Given the description of an element on the screen output the (x, y) to click on. 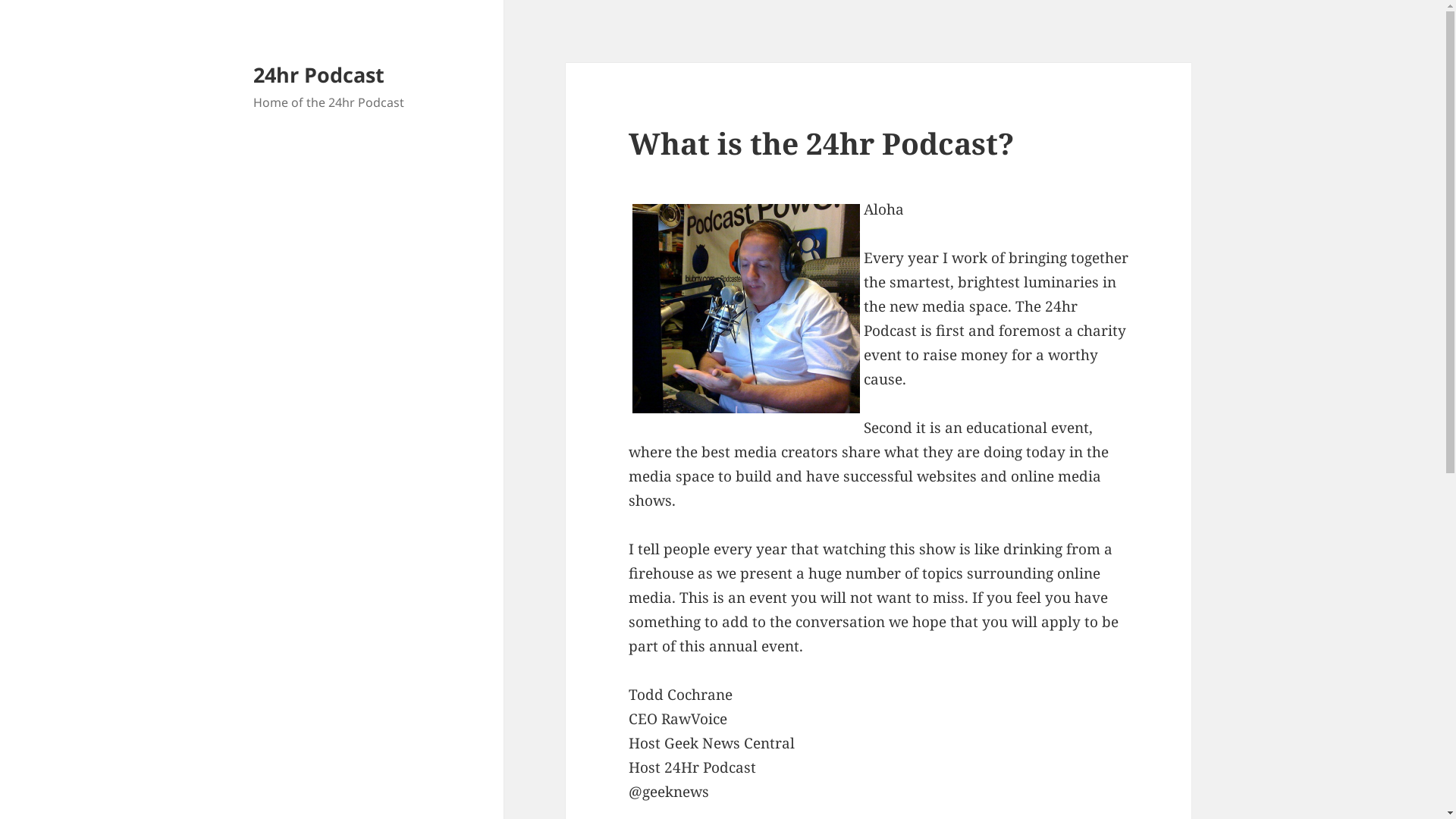
24hr Podcast Element type: text (318, 74)
ryan Element type: hover (745, 308)
